Given the description of an element on the screen output the (x, y) to click on. 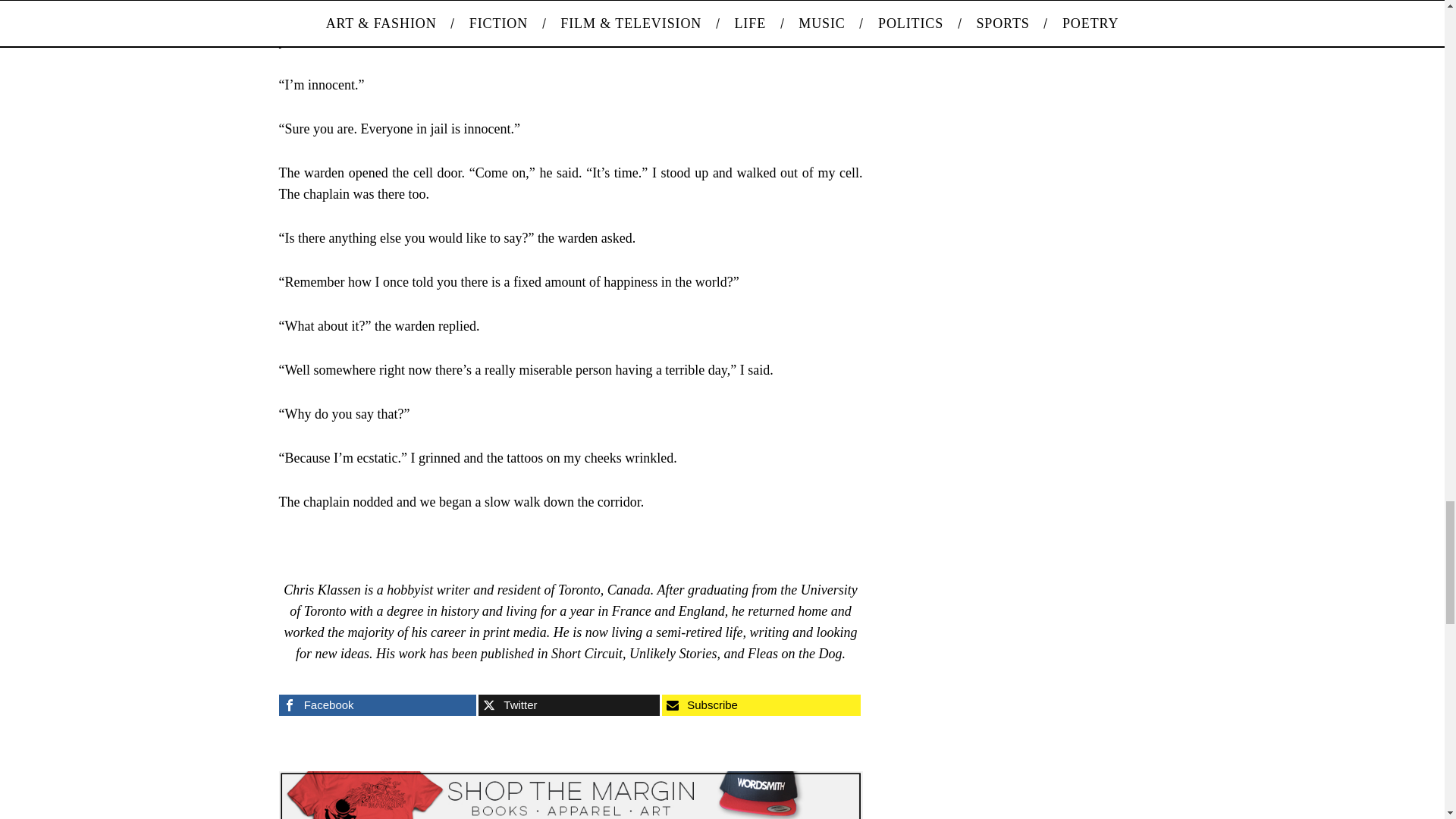
Subscribe (761, 704)
Twitter (569, 704)
Facebook (378, 704)
